Given the description of an element on the screen output the (x, y) to click on. 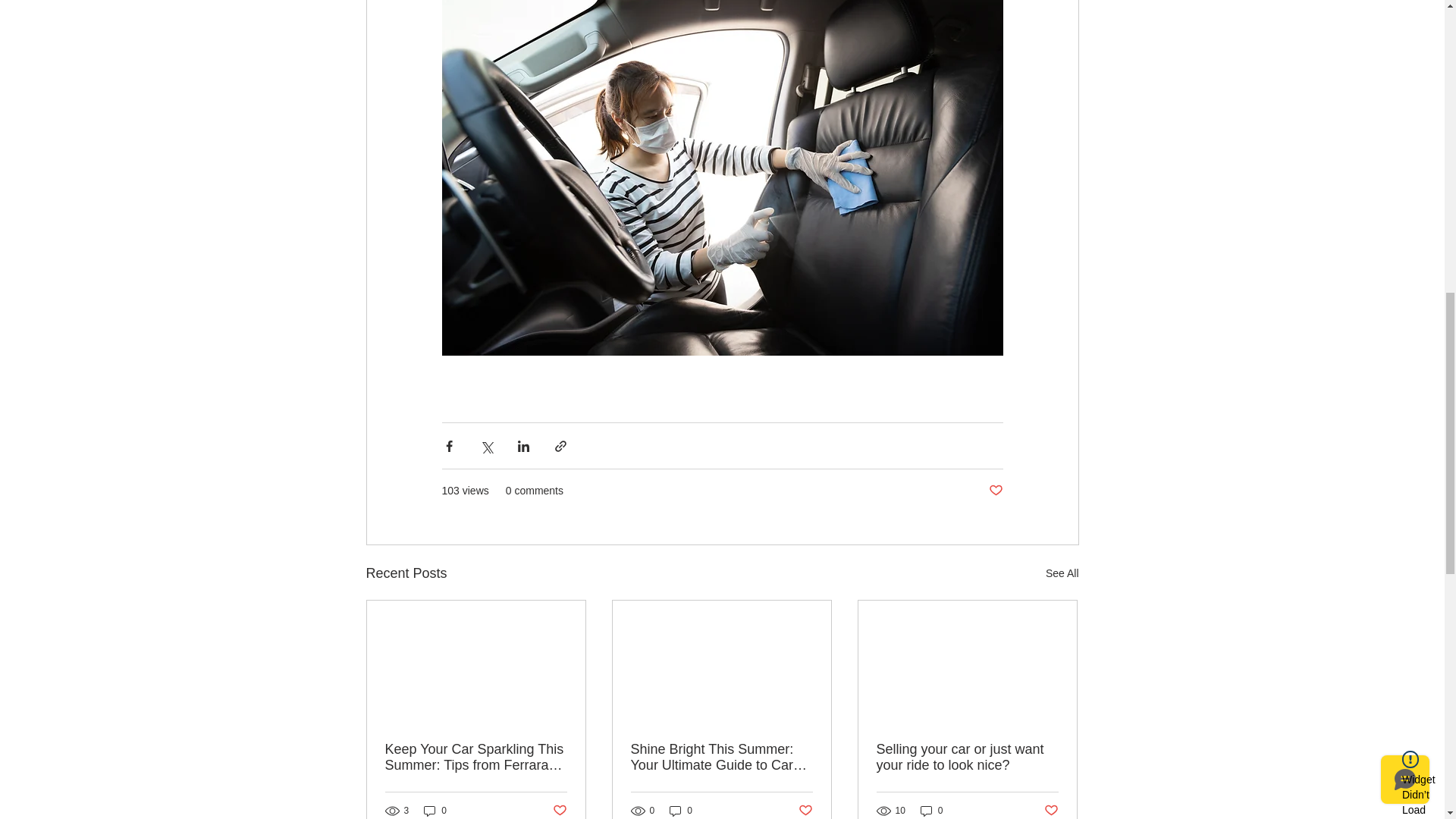
0 (681, 810)
0 (931, 810)
Post not marked as liked (558, 811)
See All (1061, 573)
Post not marked as liked (995, 490)
0 (435, 810)
Shine Bright This Summer: Your Ultimate Guide to Car Washing (721, 757)
Selling your car or just want your ride to look nice? (967, 757)
Post not marked as liked (1050, 811)
Post not marked as liked (804, 811)
